Given the description of an element on the screen output the (x, y) to click on. 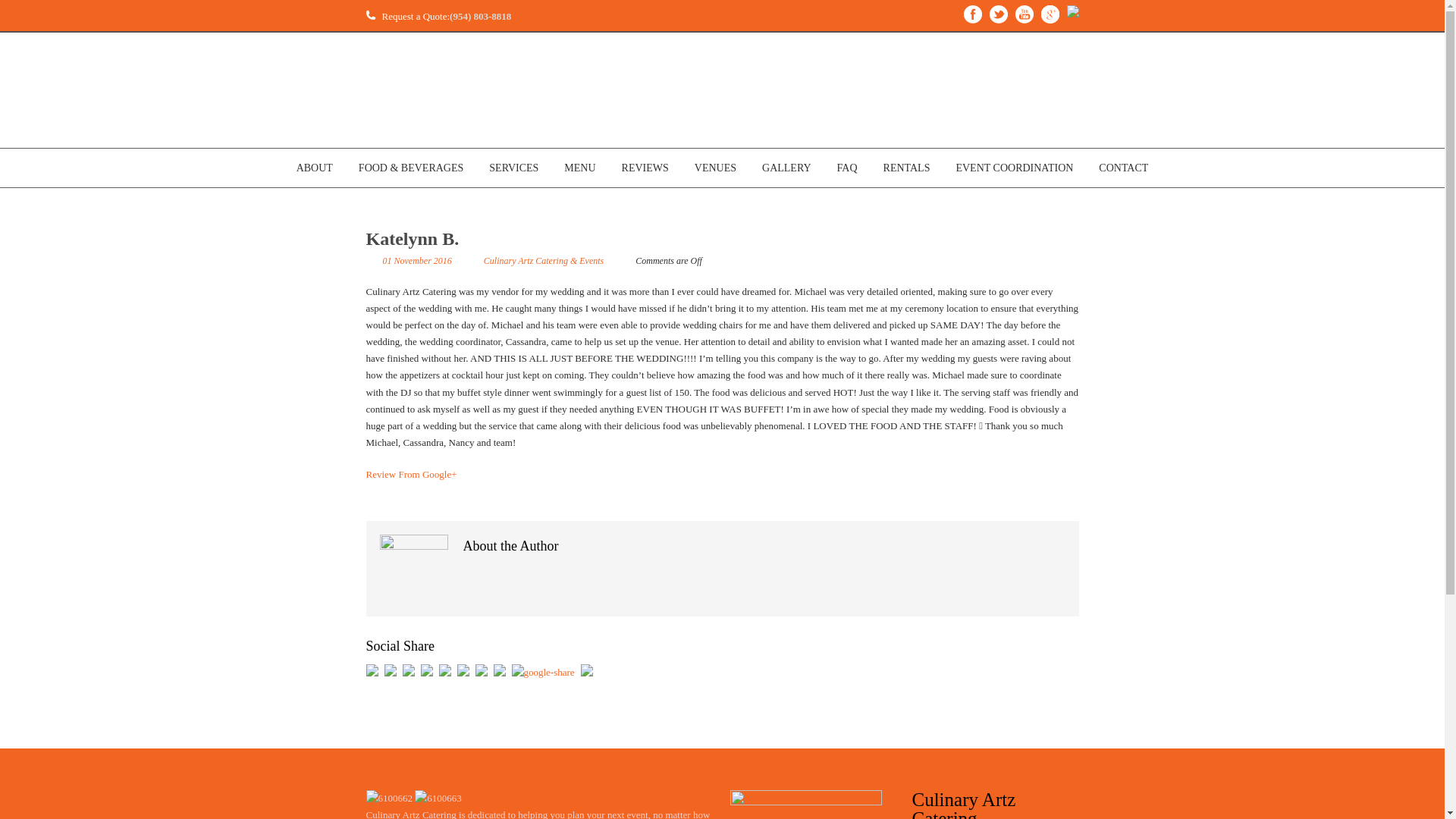
ABOUT (314, 167)
VENUES (715, 167)
SERVICES (513, 167)
MENU (579, 167)
GALLERY (786, 167)
FAQ (847, 167)
EVENT COORDINATION (1013, 167)
RENTALS (906, 167)
Katelynn B. (411, 238)
CONTACT (1123, 167)
